Given the description of an element on the screen output the (x, y) to click on. 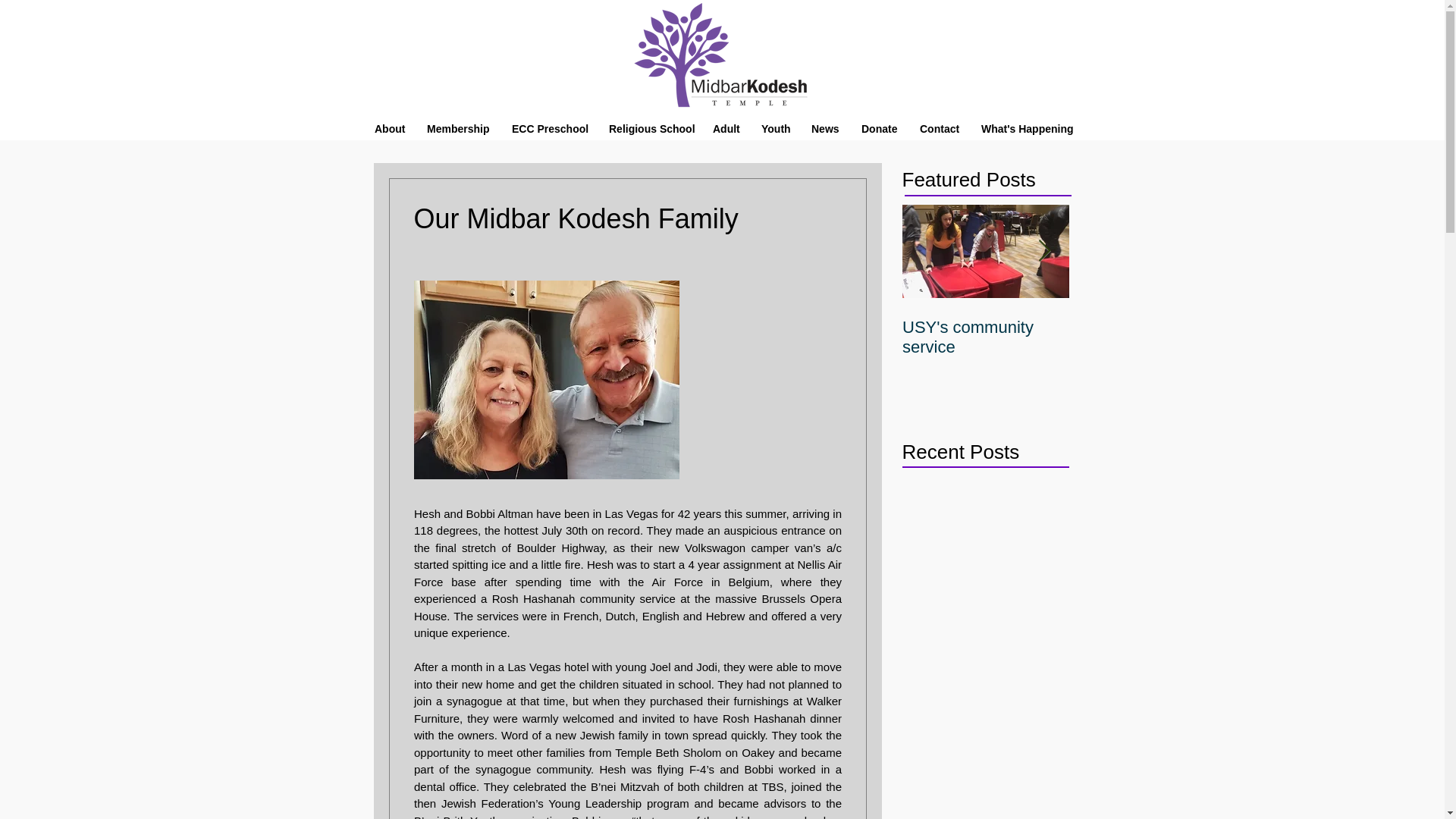
Youth (774, 128)
Donate (877, 128)
ECC Preschool (547, 128)
Religious School (648, 128)
News (823, 128)
Contact (938, 128)
USY's community service (985, 337)
What's Happening (1025, 128)
About (388, 128)
Adult (724, 128)
Membership (456, 128)
